Given the description of an element on the screen output the (x, y) to click on. 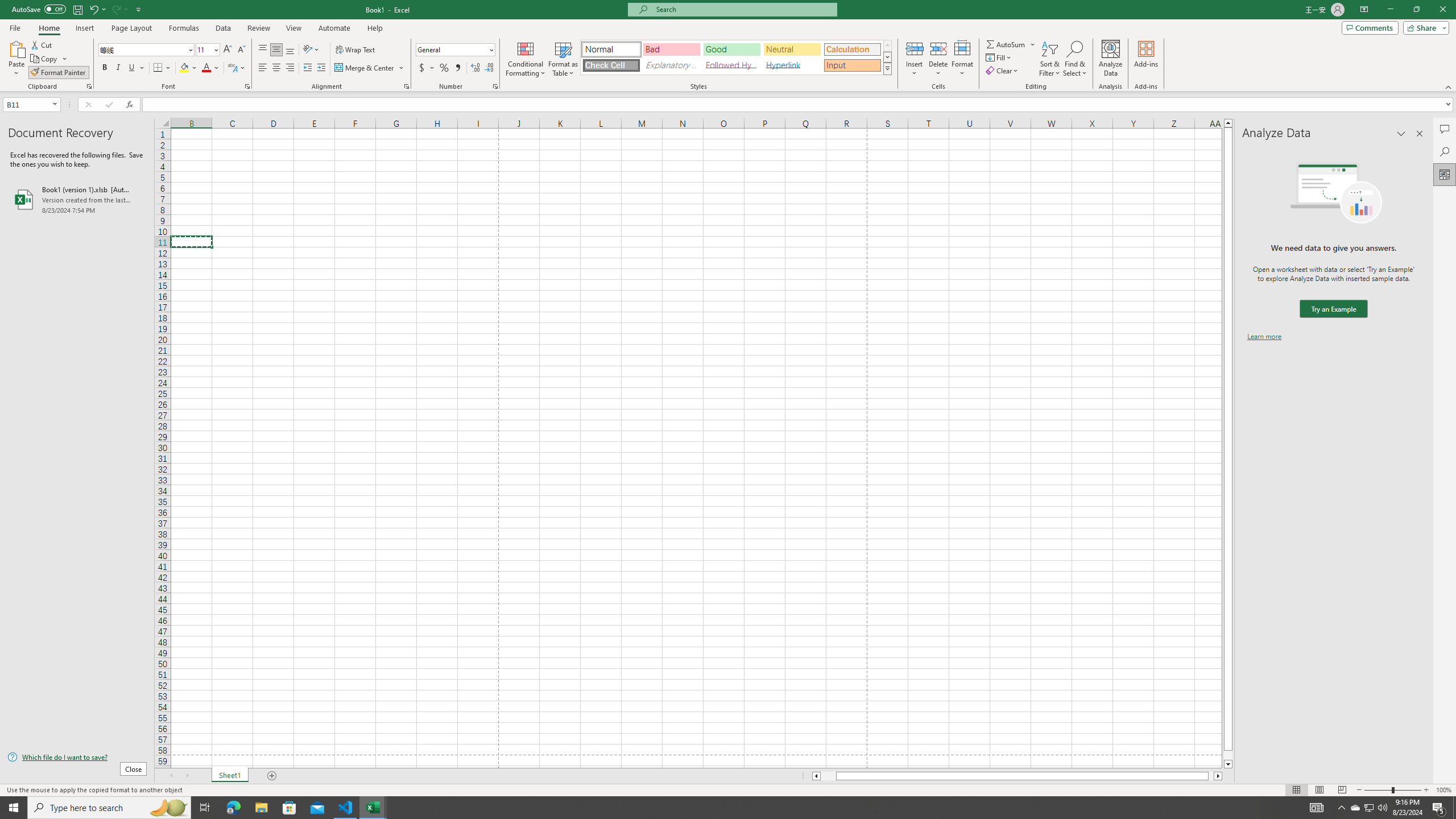
Decrease Font Size (240, 49)
Bad (671, 49)
Office Clipboard... (88, 85)
Show Phonetic Field (236, 67)
Align Right (290, 67)
Accounting Number Format (422, 67)
Font Size (207, 49)
Page left (828, 775)
Top Align (262, 49)
